Given the description of an element on the screen output the (x, y) to click on. 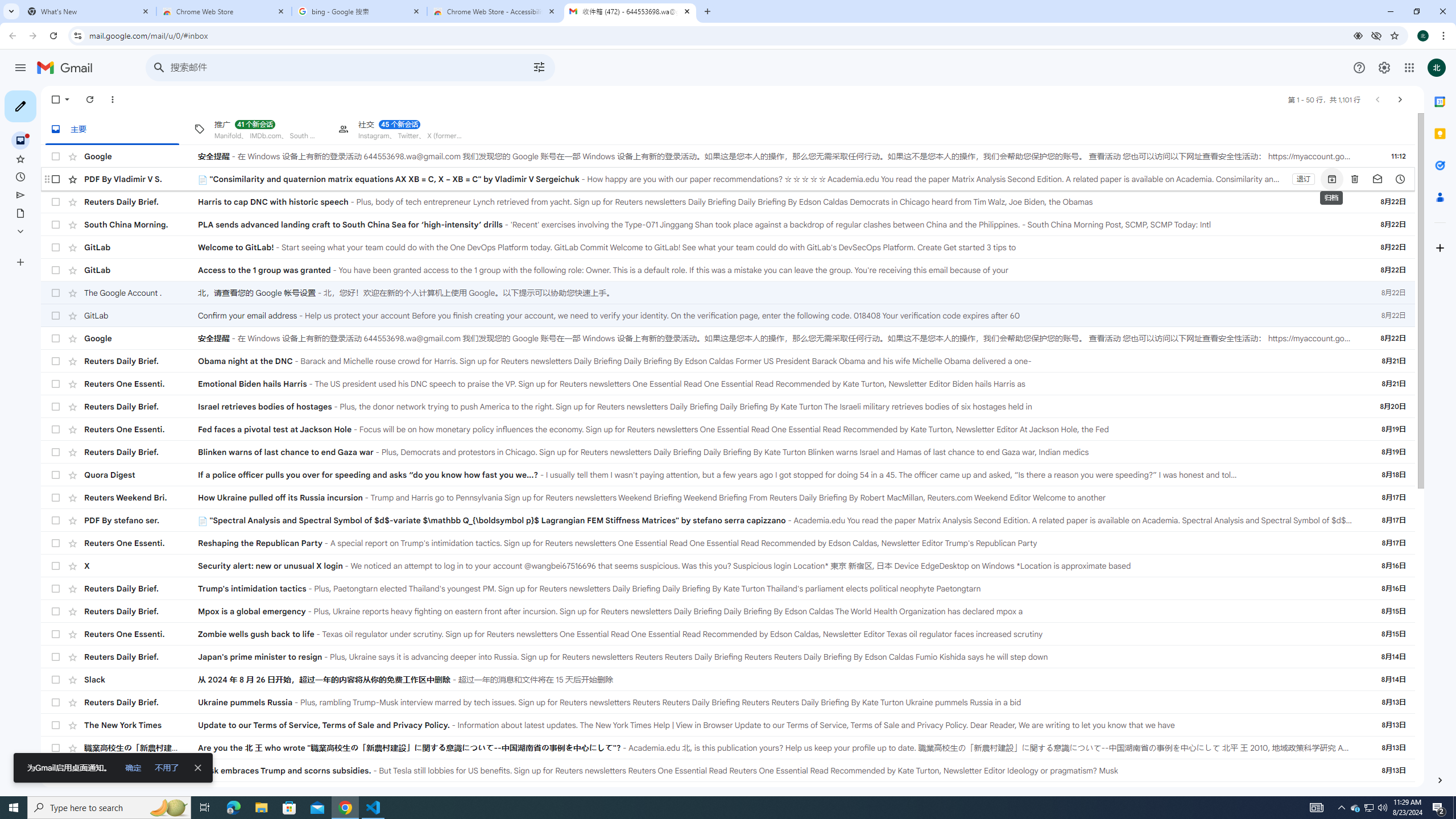
Slack (141, 679)
